Given the description of an element on the screen output the (x, y) to click on. 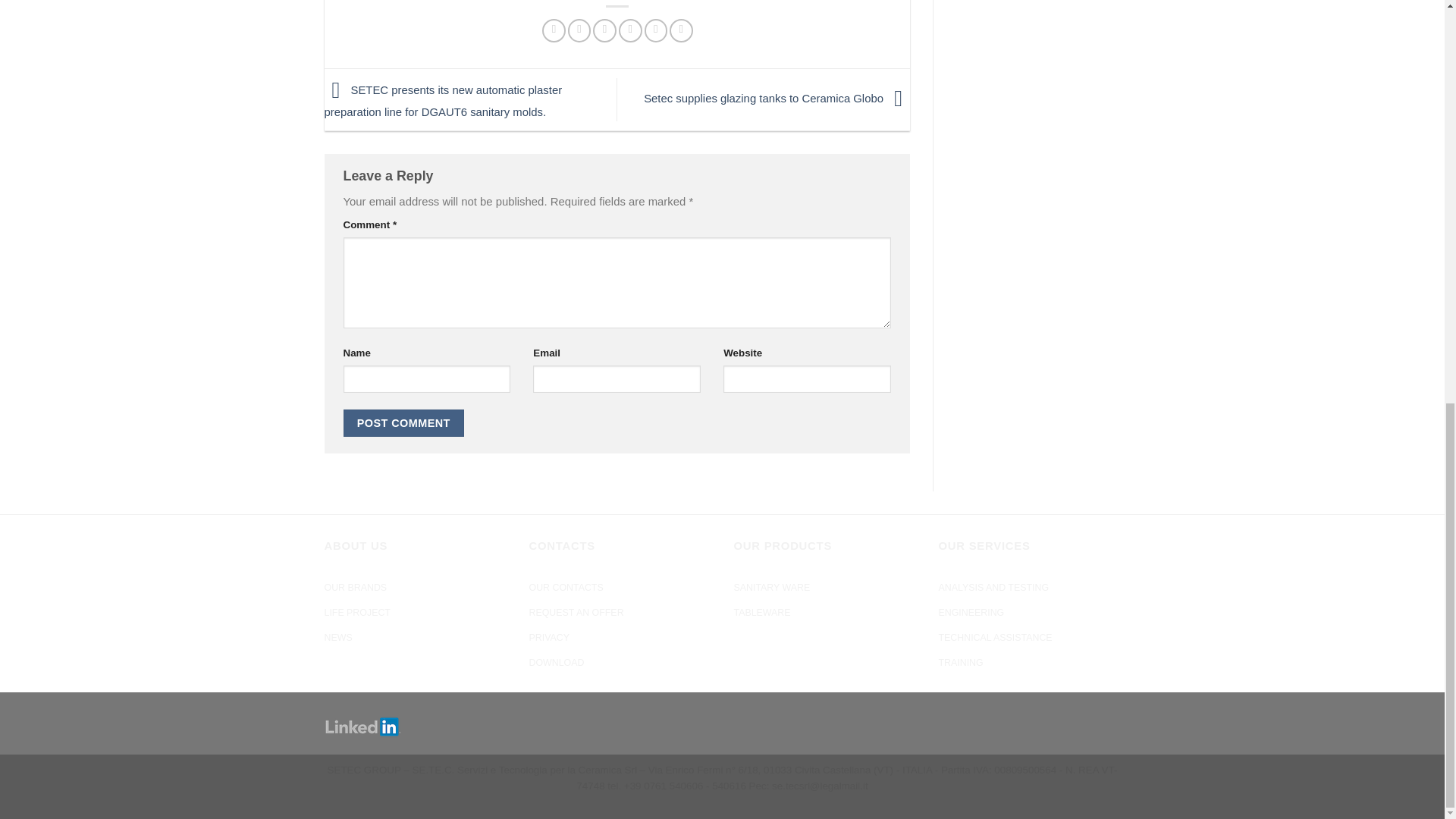
Pin on Pinterest (630, 30)
Setec supplies glazing tanks to Ceramica Globo (776, 98)
Share on Facebook (553, 30)
Post Comment (403, 423)
Email to a Friend (603, 30)
Share on LinkedIn (681, 30)
OUR BRANDS (355, 588)
Share on Twitter (579, 30)
Post Comment (403, 423)
